Given the description of an element on the screen output the (x, y) to click on. 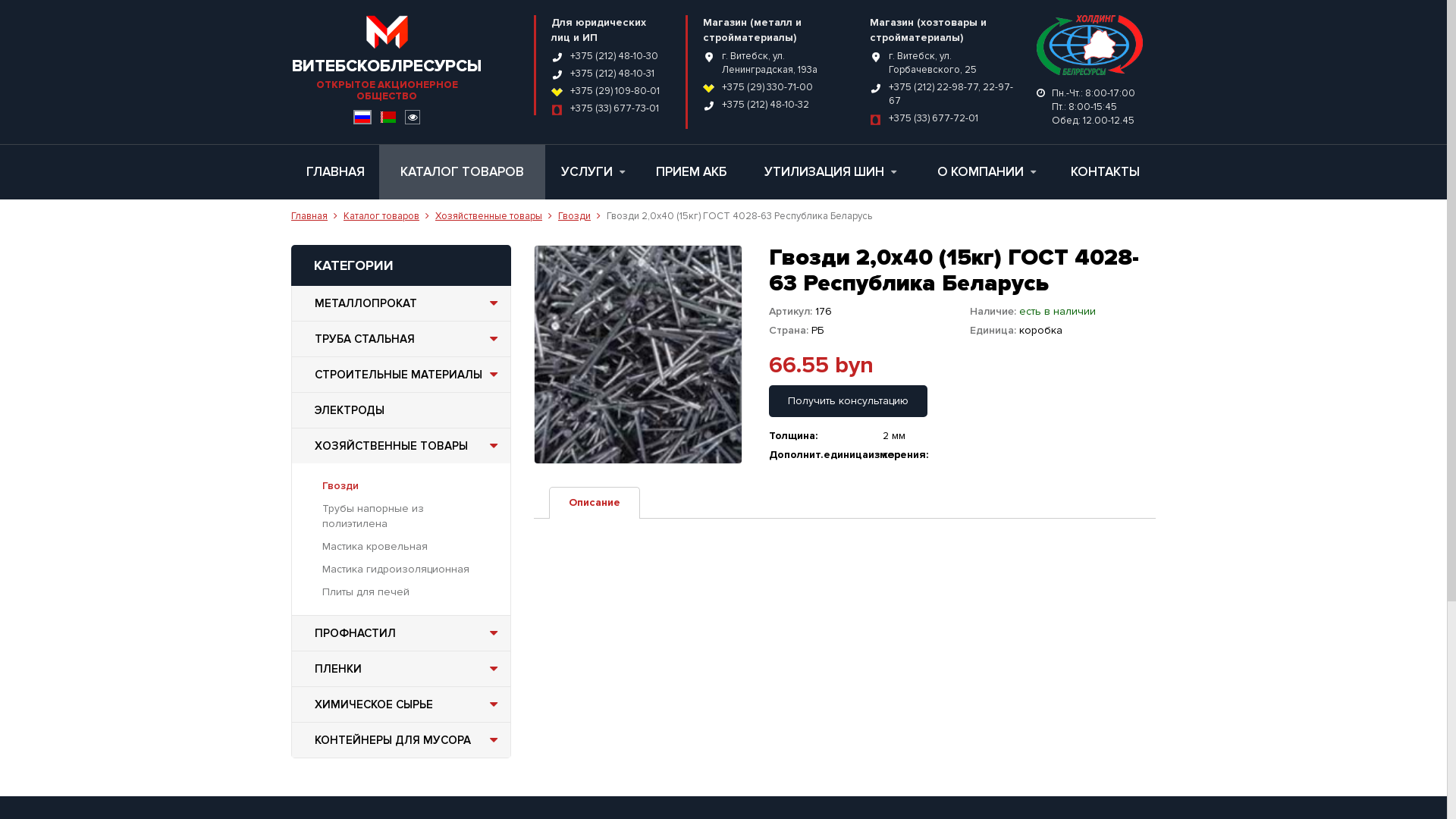
+375 (29) 109-80-01 Element type: text (614, 90)
+375 (33) 677-73-01 Element type: text (614, 108)
+375 (29) 330-71-00 Element type: text (766, 87)
+375 (212) 48-10-30 Element type: text (614, 56)
+375 (212) 48-10-32 Element type: text (765, 104)
+375 (212) 48-10-31 Element type: text (612, 73)
+375 (33) 677-72-01 Element type: text (933, 118)
+375 (212) 22-98-77, 22-97-67 Element type: text (950, 93)
